Given the description of an element on the screen output the (x, y) to click on. 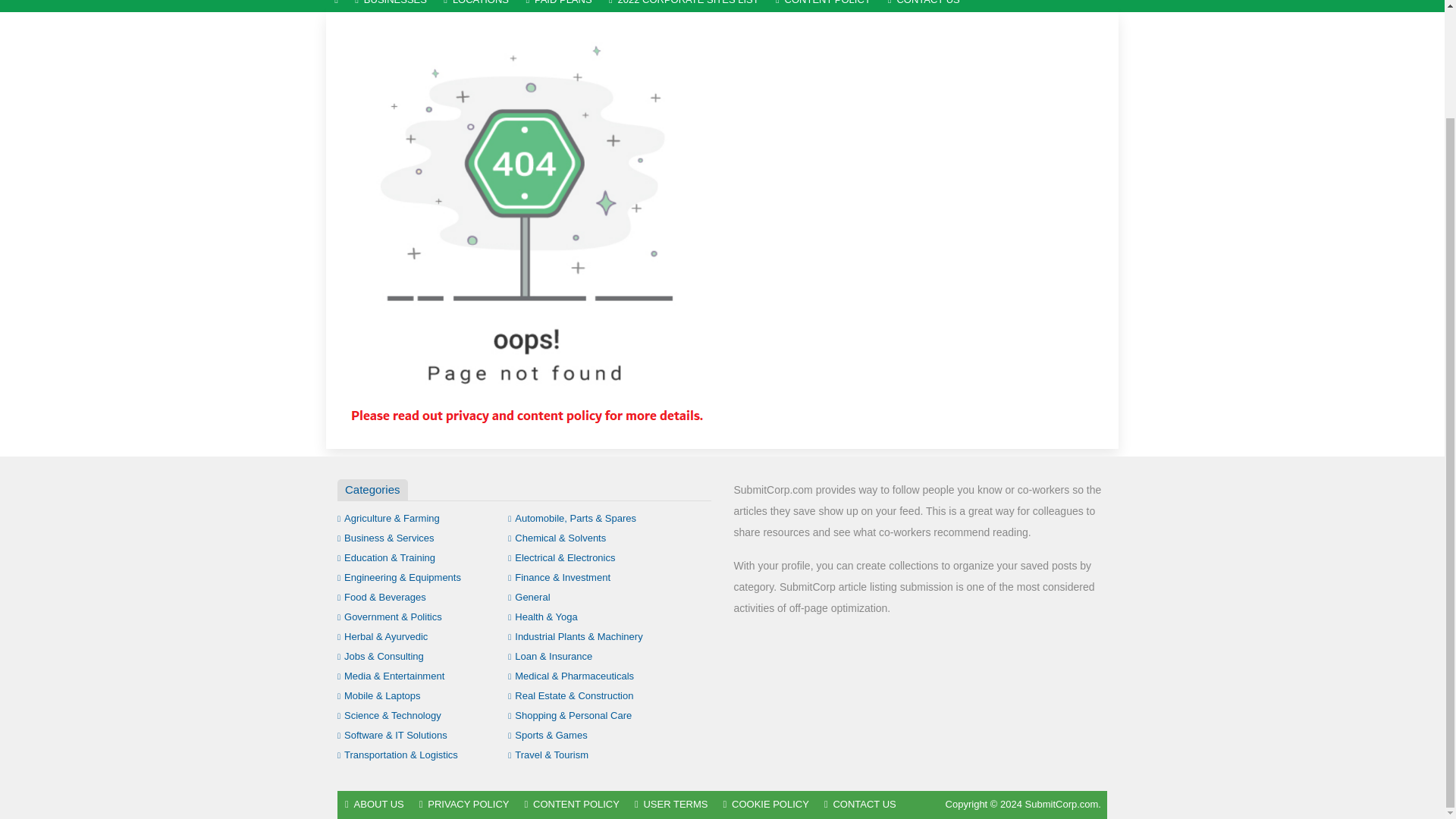
General (529, 596)
HOME (336, 6)
CONTACT US (923, 6)
2022 CORPORATE SITES LIST (683, 6)
CONTENT POLICY (823, 6)
PAID PLANS (557, 6)
BUSINESSES (390, 6)
LOCATIONS (475, 6)
